Given the description of an element on the screen output the (x, y) to click on. 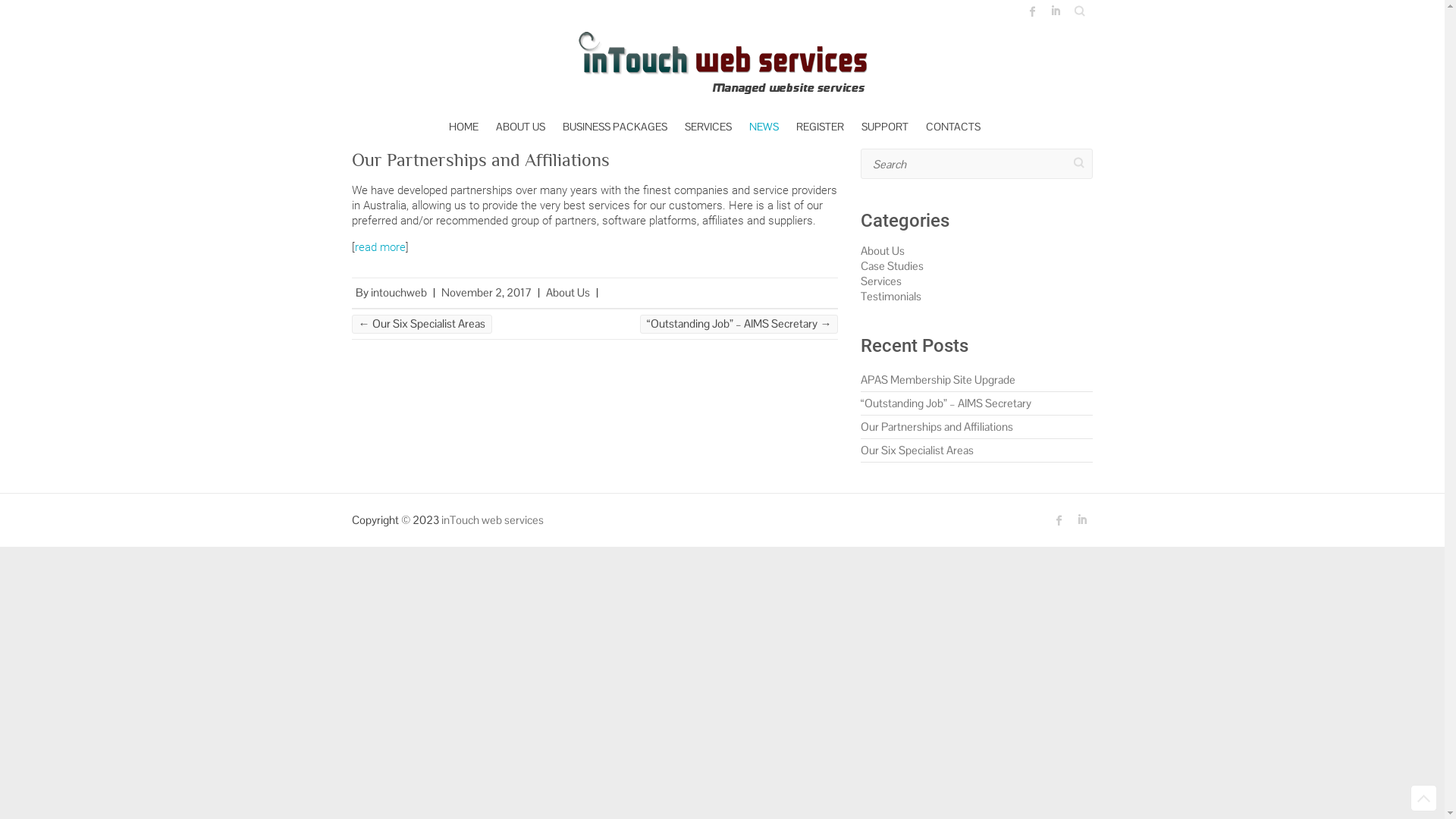
About Us Element type: text (567, 292)
APAS Membership Site Upgrade Element type: text (937, 379)
inTouch web services Facebook Element type: text (1031, 11)
Our Partnerships and Affiliations Element type: text (936, 426)
read more Element type: text (379, 247)
inTouch web services LinkedIn Element type: text (1081, 519)
About Us Element type: text (882, 250)
HOME Element type: text (463, 127)
NEWS Element type: text (763, 127)
REGISTER Element type: text (820, 127)
BUSINESS PACKAGES Element type: text (614, 127)
intouchweb Element type: text (398, 292)
inTouch web services Facebook Element type: text (1059, 519)
Testimonials Element type: text (890, 295)
November 2, 2017 Element type: text (486, 292)
SERVICES Element type: text (707, 127)
Our Partnerships and Affiliations Element type: text (480, 159)
inTouch web services LinkedIn Element type: text (1054, 11)
ABOUT US Element type: text (520, 127)
inTouch web services Element type: text (492, 519)
SUPPORT Element type: text (884, 127)
inTouch web services Element type: hover (722, 64)
Services Element type: text (880, 280)
CONTACTS Element type: text (952, 127)
Our Six Specialist Areas Element type: text (916, 449)
Back to Top Element type: text (1423, 797)
Case Studies Element type: text (891, 265)
